Given the description of an element on the screen output the (x, y) to click on. 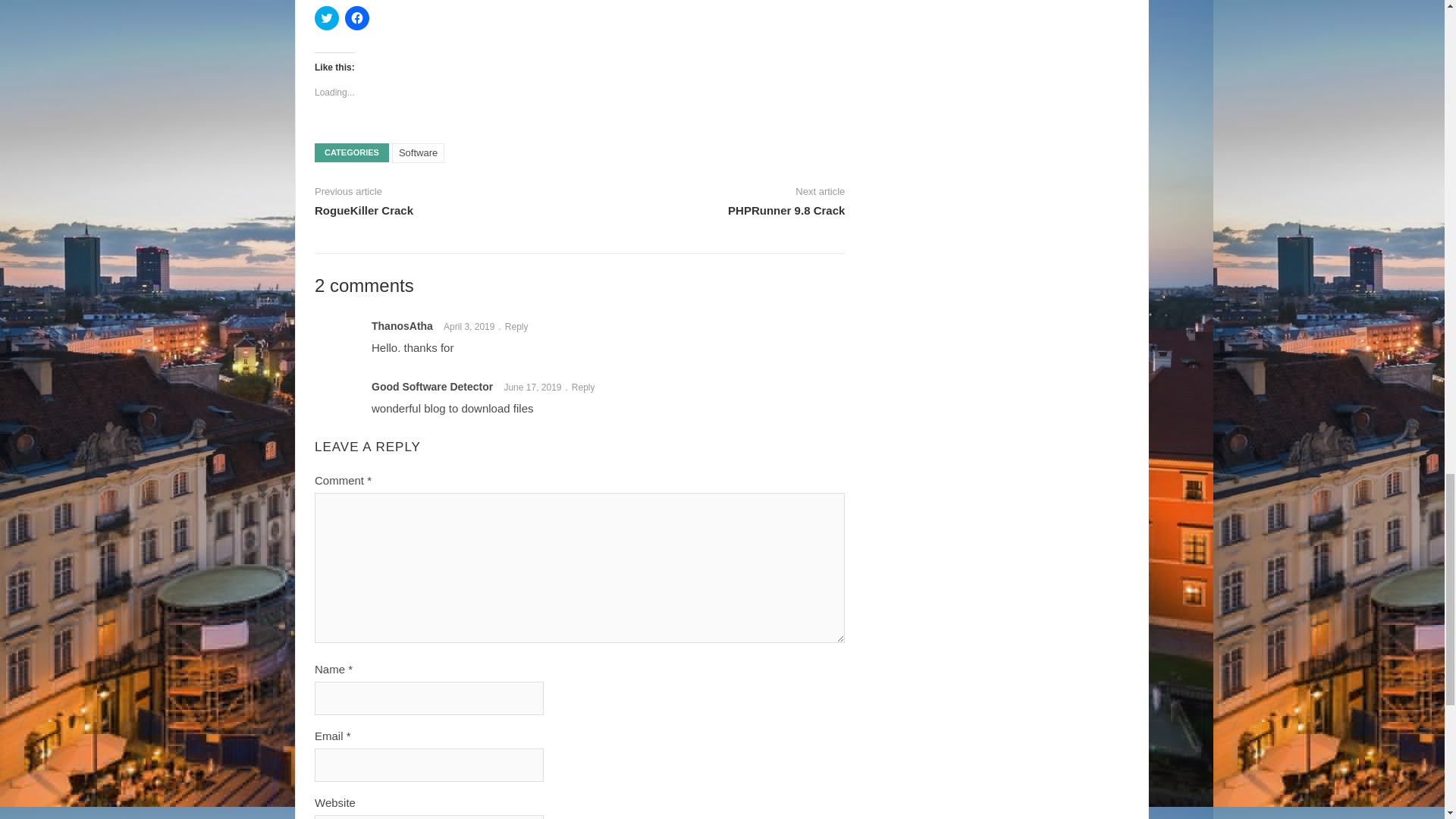
April 3, 2019 (474, 326)
PHPRunner 9.8 Crack (786, 210)
Reply (520, 326)
Reply (587, 387)
Software (417, 152)
June 17, 2019 (536, 387)
Click to share on Facebook (357, 17)
RogueKiller Crack (363, 210)
Click to share on Twitter (326, 17)
